Given the description of an element on the screen output the (x, y) to click on. 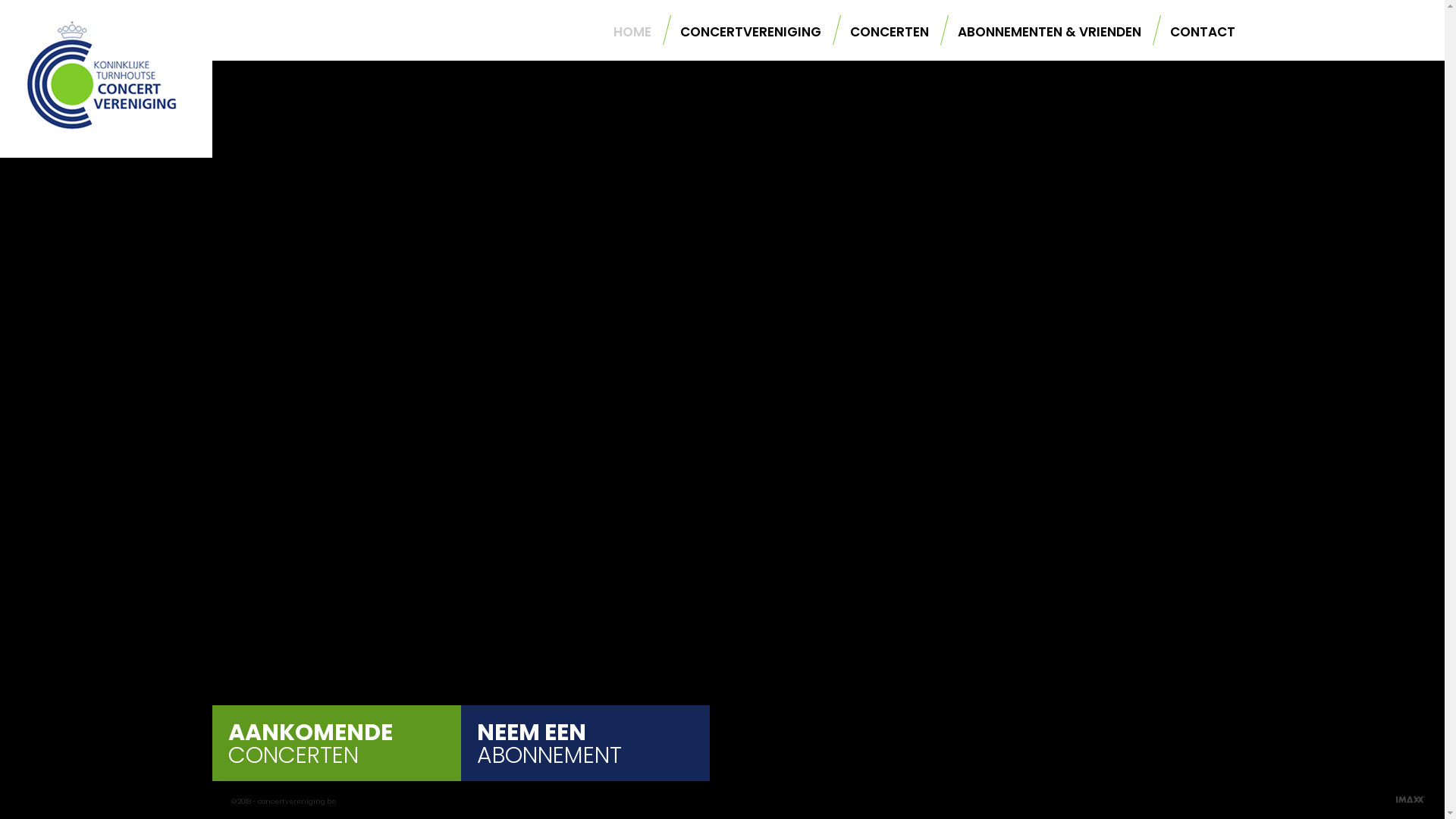
CONTACT Element type: text (1193, 31)
ABONNEMENTEN & VRIENDEN Element type: text (1040, 31)
CONCERTVERENIGING Element type: text (741, 31)
AANKOMENDE
CONCERTEN Element type: text (336, 758)
CONCERTEN Element type: text (880, 31)
HOME Element type: text (623, 31)
Imaxx Webdesign Element type: hover (1410, 804)
NEEM EEN
ABONNEMENT Element type: text (586, 758)
